Given the description of an element on the screen output the (x, y) to click on. 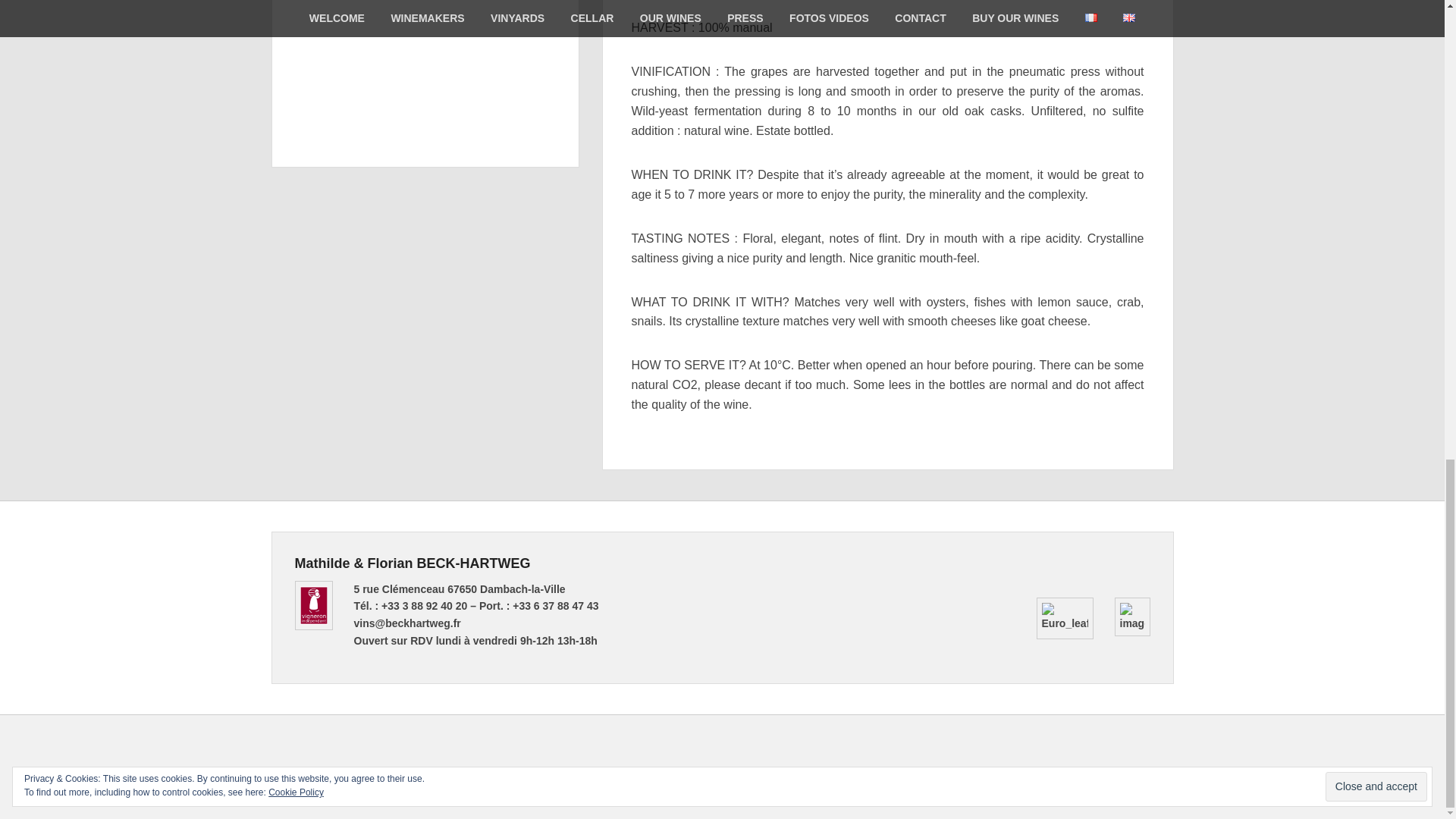
YouTube (1127, 750)
Instagram (1160, 750)
Facebook (1061, 750)
